Given the description of an element on the screen output the (x, y) to click on. 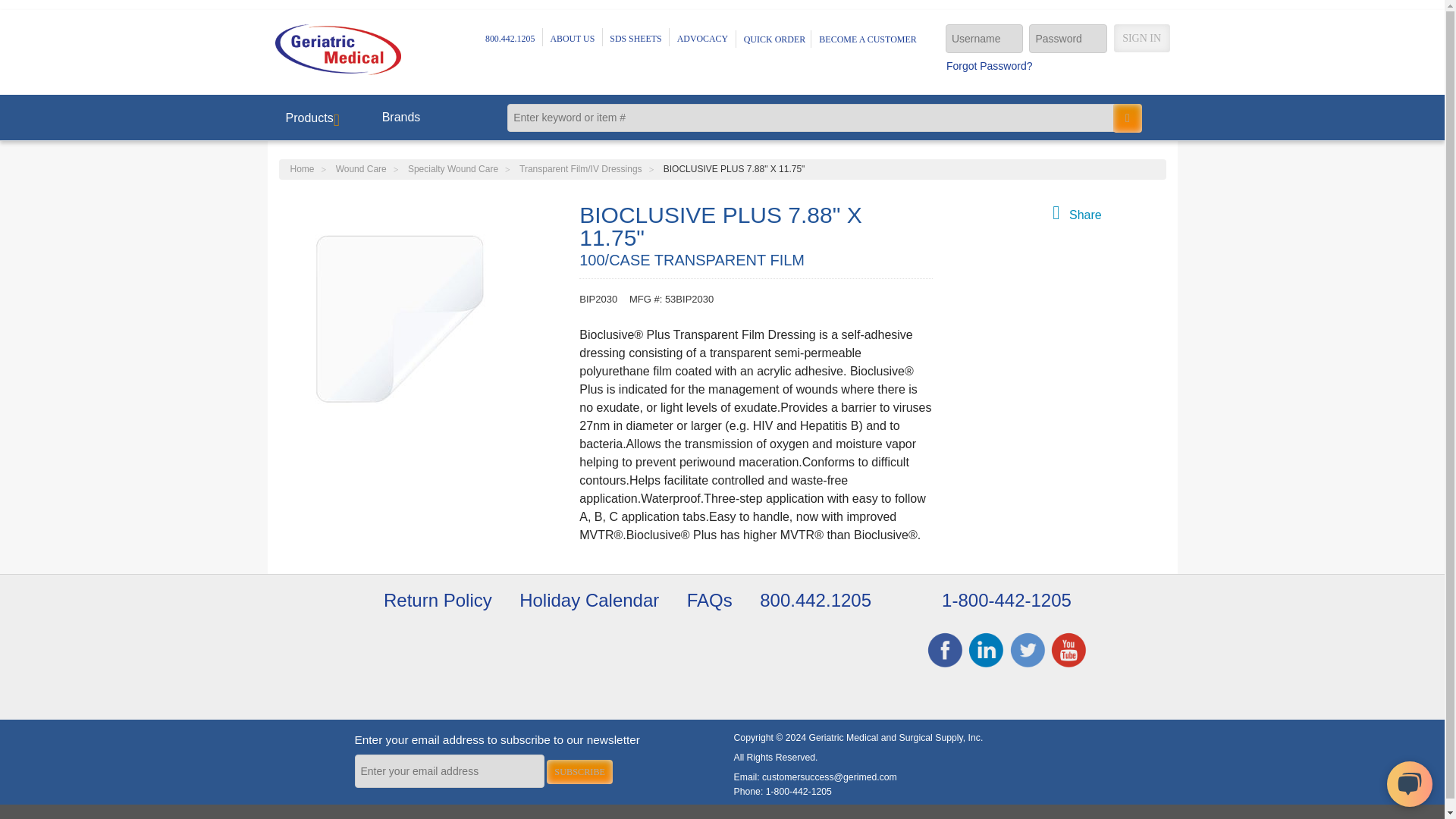
BECOME A CUSTOMER (869, 39)
QUICK ORDER (777, 39)
SDS SHEETS (635, 38)
800.442.1205 (509, 38)
ADVOCACY (702, 38)
Forgot Password? (989, 65)
ABOUT US (572, 38)
Products (313, 117)
SIGN IN (1141, 38)
